Given the description of an element on the screen output the (x, y) to click on. 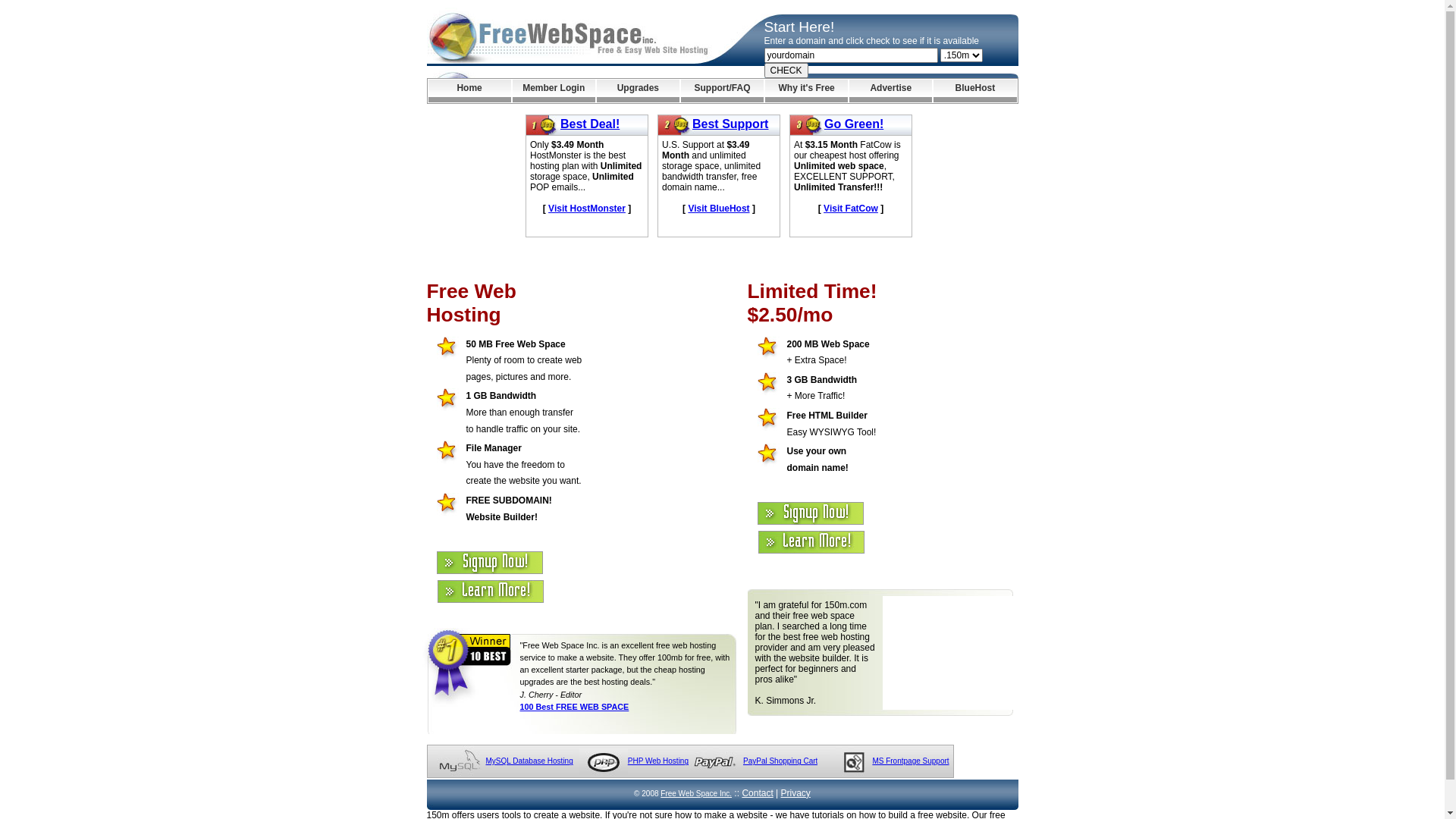
Support/FAQ Element type: text (721, 90)
MySQL Database Hosting Element type: text (528, 760)
PayPal Shopping Cart Element type: text (780, 760)
CHECK Element type: text (786, 70)
Advertise Element type: text (890, 90)
Free Web Space Inc. Element type: text (695, 793)
Contact Element type: text (756, 792)
Home Element type: text (468, 90)
Why it's Free Element type: text (806, 90)
Upgrades Element type: text (637, 90)
Privacy Element type: text (795, 792)
PHP Web Hosting Element type: text (657, 760)
MS Frontpage Support Element type: text (910, 760)
Member Login Element type: text (553, 90)
BlueHost Element type: text (974, 90)
100 Best FREE WEB SPACE Element type: text (574, 706)
